Given the description of an element on the screen output the (x, y) to click on. 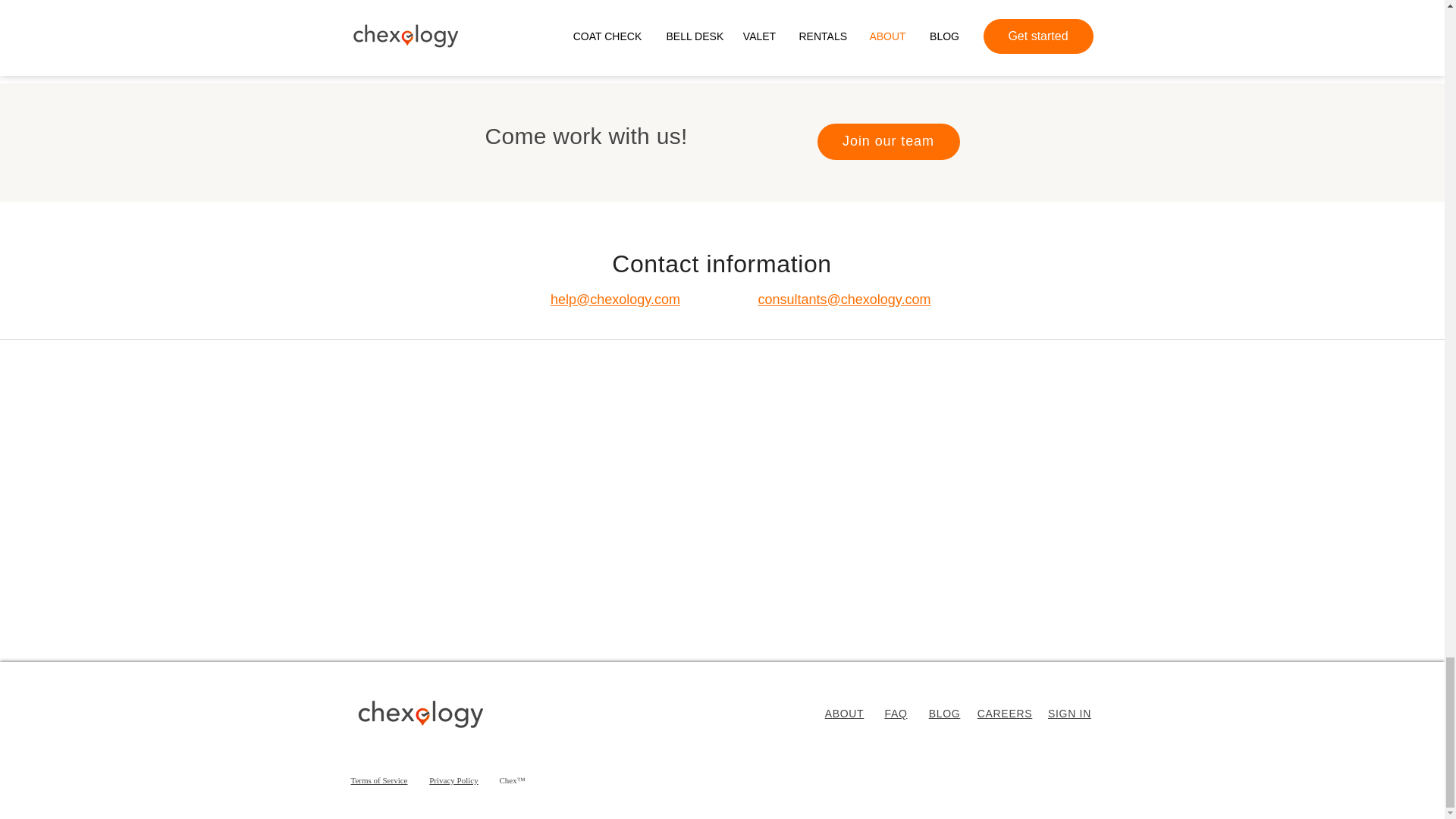
Terms of Service (378, 779)
ABOUT (844, 713)
Privacy Policy (453, 779)
BLOG (944, 713)
Join our team (887, 141)
CAREERS (1004, 713)
FAQ (895, 713)
SIGN IN (1069, 713)
